Given the description of an element on the screen output the (x, y) to click on. 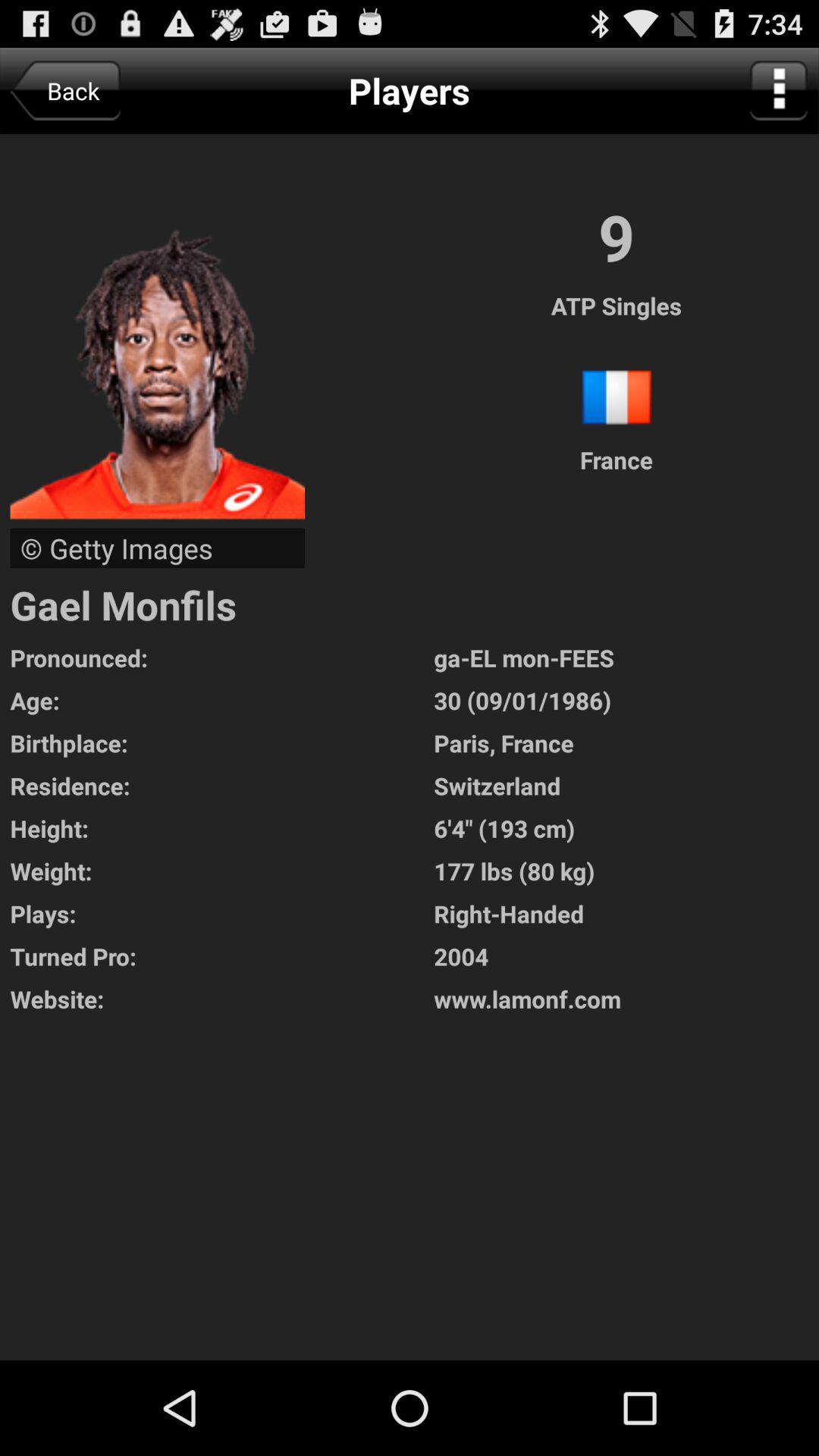
press item to the right of the pronounced: (626, 657)
